Given the description of an element on the screen output the (x, y) to click on. 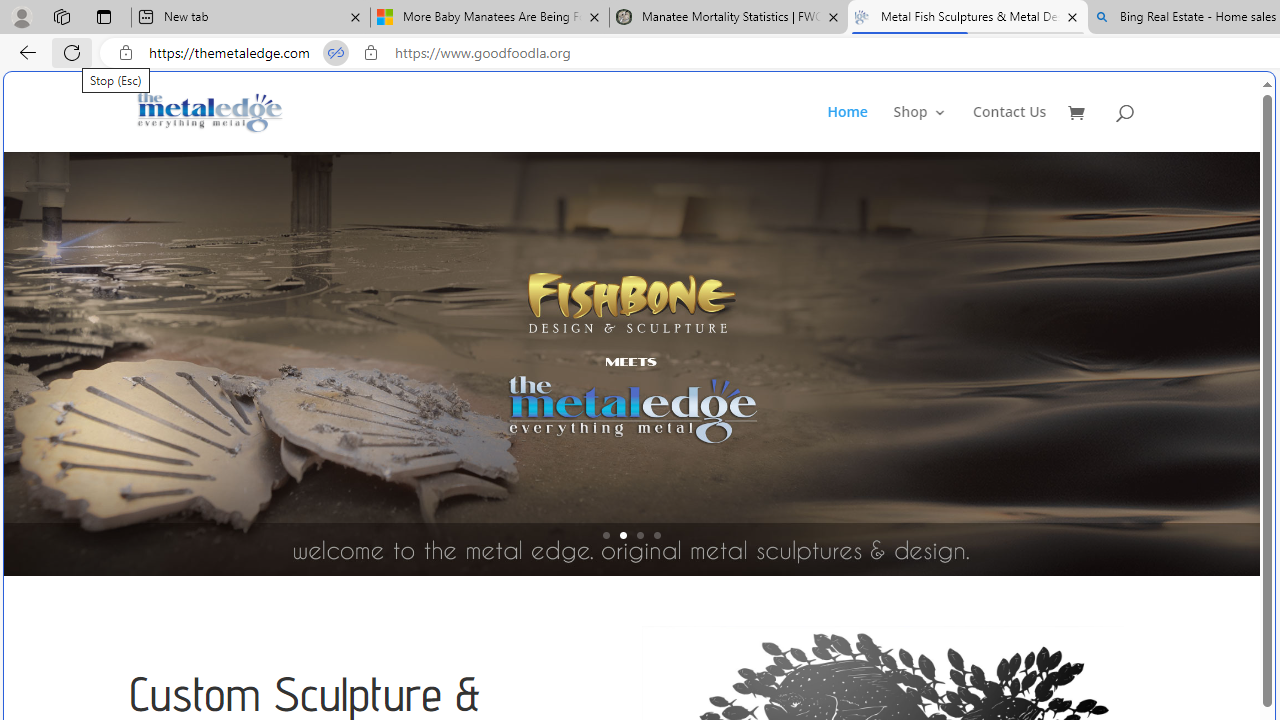
Shop3 (931, 128)
Metal Fish Sculptures & Metal Designs (210, 111)
Shop 3 (920, 128)
